Given the description of an element on the screen output the (x, y) to click on. 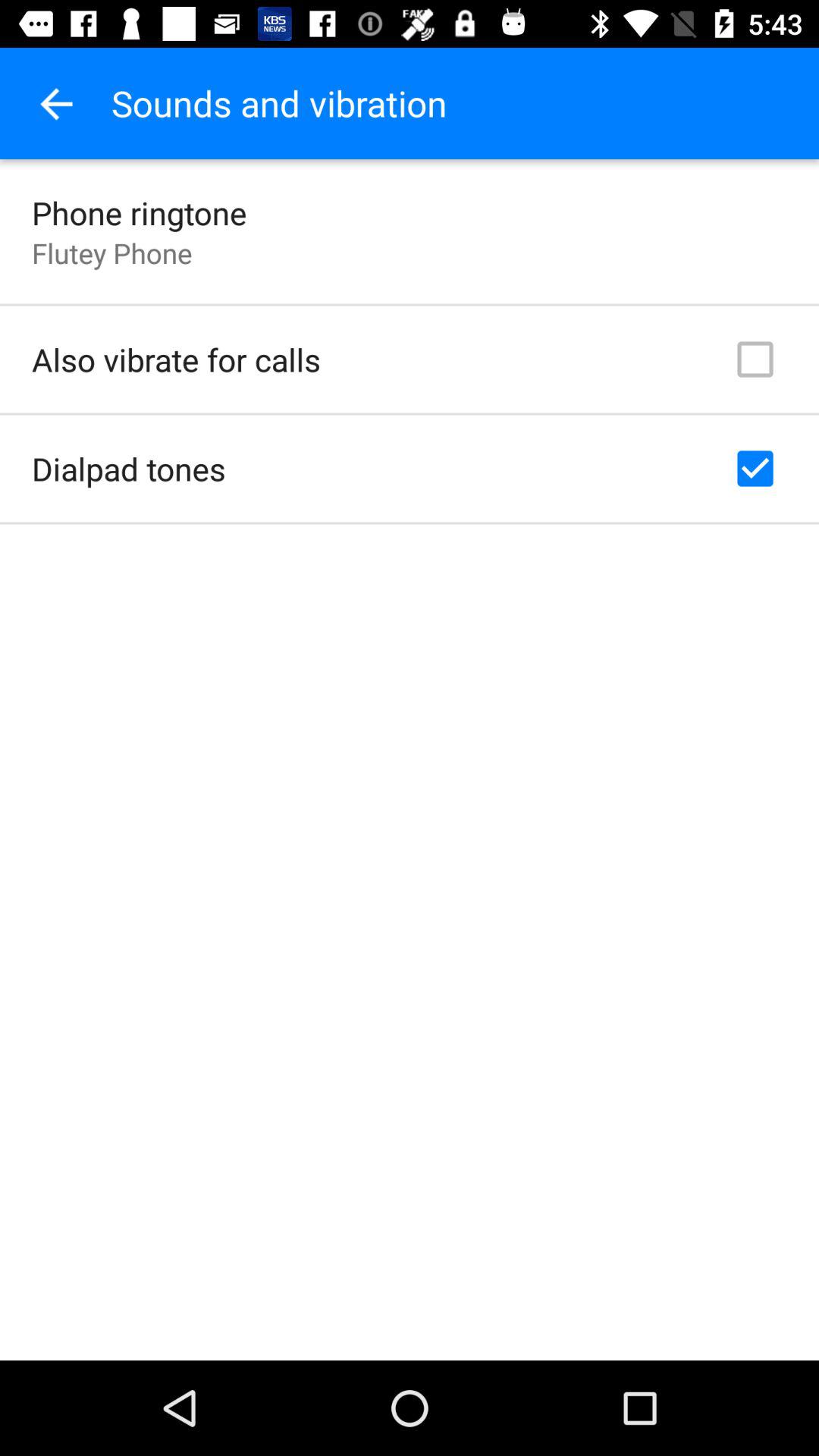
flip until flutey phone icon (111, 252)
